Given the description of an element on the screen output the (x, y) to click on. 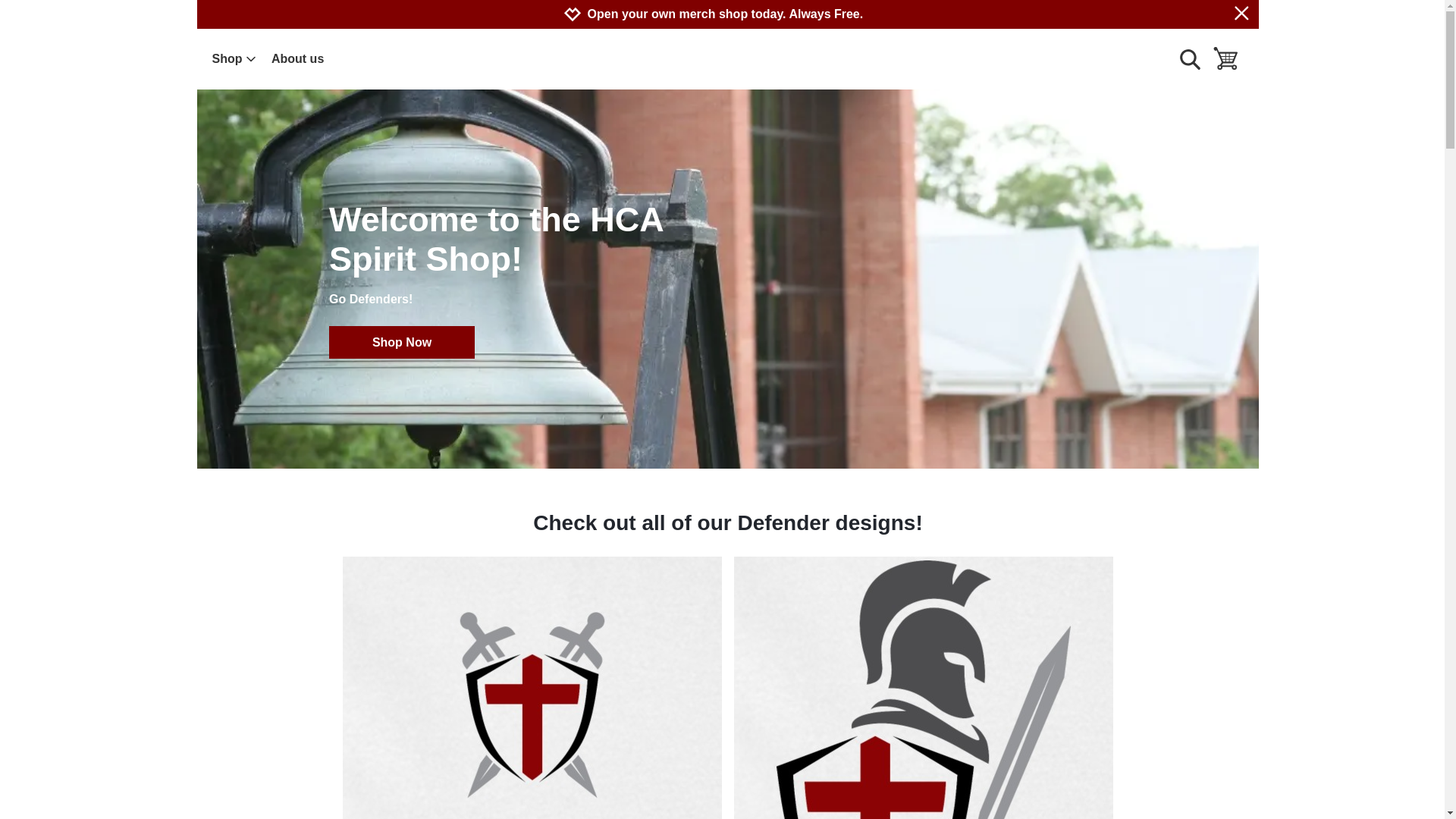
Increase contrast (739, 6)
Open your own merch shop today. Always Free. (725, 14)
Shop (234, 58)
Jump to navigation (740, 6)
